Given the description of an element on the screen output the (x, y) to click on. 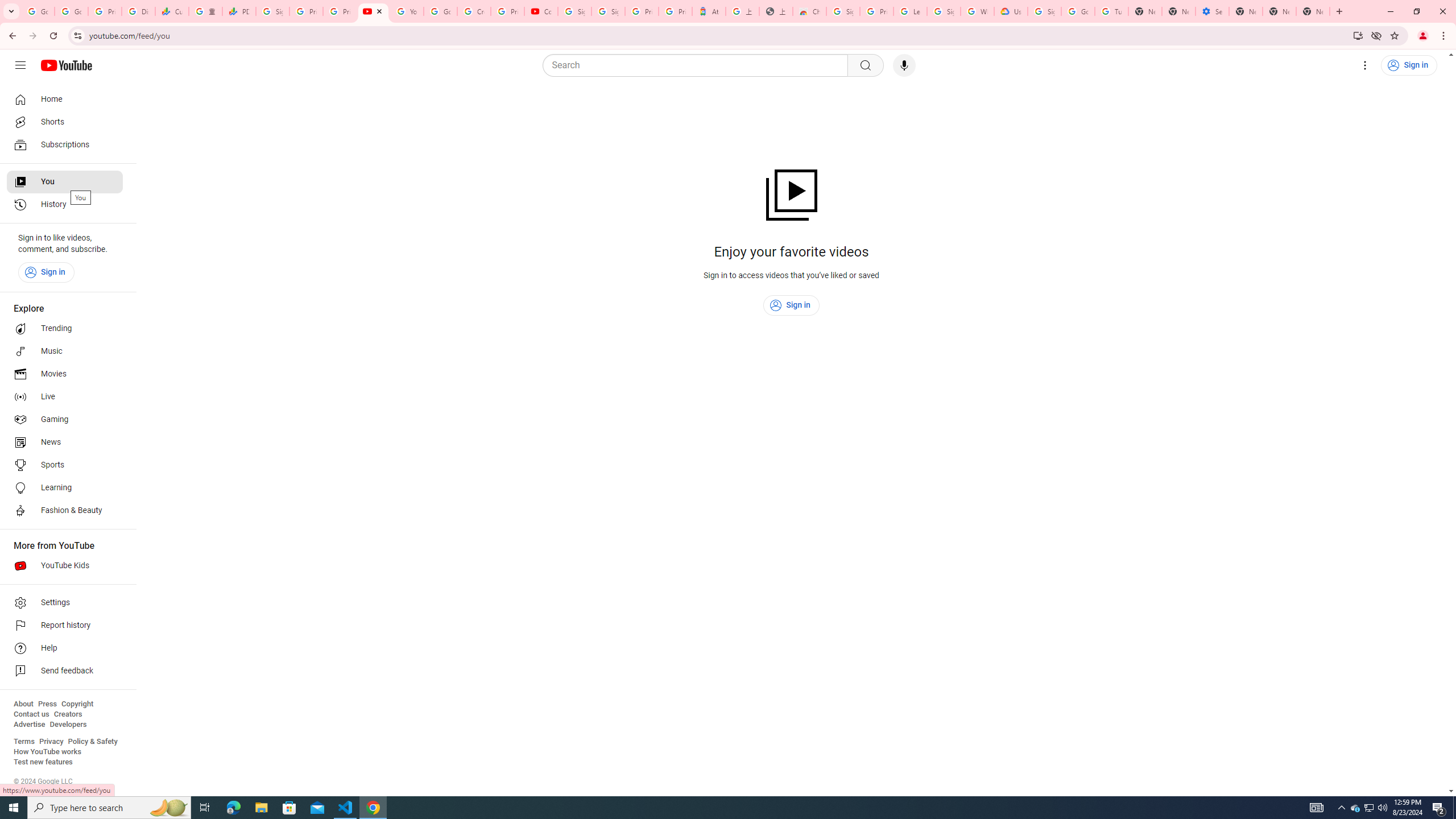
Copyright (77, 703)
Report history (64, 625)
About (23, 703)
Settings - Addresses and more (1212, 11)
History (64, 204)
Chrome Web Store (809, 11)
YouTube Home (66, 65)
Music (64, 350)
Who are Google's partners? - Privacy and conditions - Google (976, 11)
News (64, 441)
Press (46, 703)
Learning (64, 487)
